Given the description of an element on the screen output the (x, y) to click on. 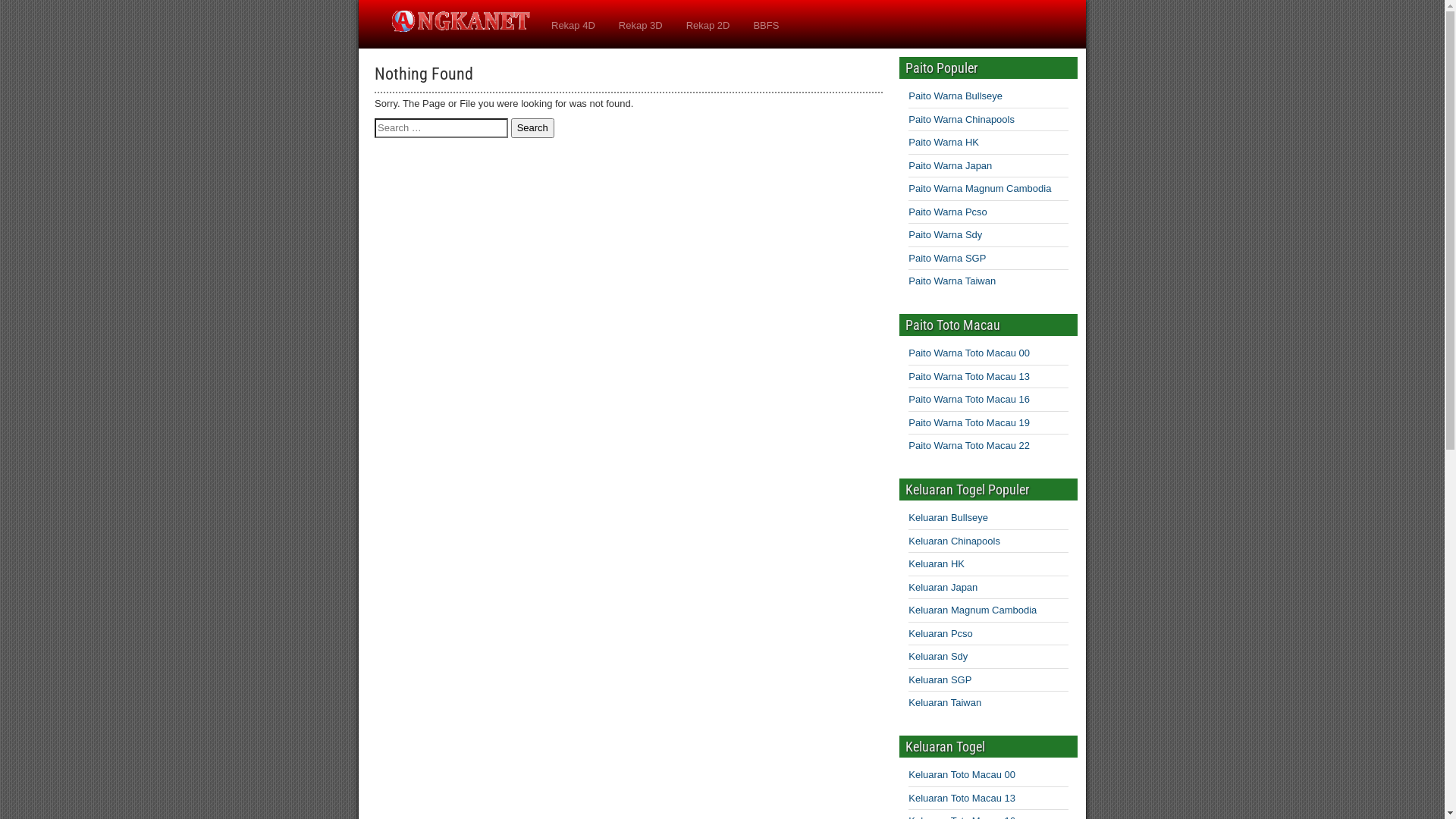
Paito Warna Pcso Element type: text (947, 211)
Keluaran Toto Macau 13 Element type: text (961, 797)
Search Element type: text (532, 128)
Rekap 4D Element type: text (573, 25)
Paito Warna Toto Macau 22 Element type: text (968, 445)
Rekap 3D Element type: text (640, 25)
Paito Warna Toto Macau 00 Element type: text (968, 352)
Keluaran Toto Macau 00 Element type: text (961, 774)
Paito Warna Sdy Element type: text (945, 234)
Rekap 2D Element type: text (708, 25)
Keluaran HK Element type: text (936, 563)
Keluaran Taiwan Element type: text (944, 702)
Paito Warna Bullseye Element type: text (955, 95)
Paito Warna Japan Element type: text (949, 165)
Paito Warna SGP Element type: text (946, 257)
Paito Warna Magnum Cambodia Element type: text (979, 188)
Paito Warna Toto Macau 13 Element type: text (968, 376)
Paito Warna Chinapools Element type: text (961, 119)
Keluaran Magnum Cambodia Element type: text (972, 609)
Keluaran Chinapools Element type: text (954, 540)
Keluaran Sdy Element type: text (937, 656)
Keluaran Pcso Element type: text (940, 633)
Keluaran SGP Element type: text (939, 679)
Keluaran Japan Element type: text (942, 587)
Paito Warna Toto Macau 19 Element type: text (968, 422)
Paito Warna Toto Macau 16 Element type: text (968, 398)
BBFS Element type: text (765, 25)
Paito Warna Taiwan Element type: text (951, 280)
Paito Warna HK Element type: text (943, 141)
Keluaran Bullseye Element type: text (948, 517)
